Given the description of an element on the screen output the (x, y) to click on. 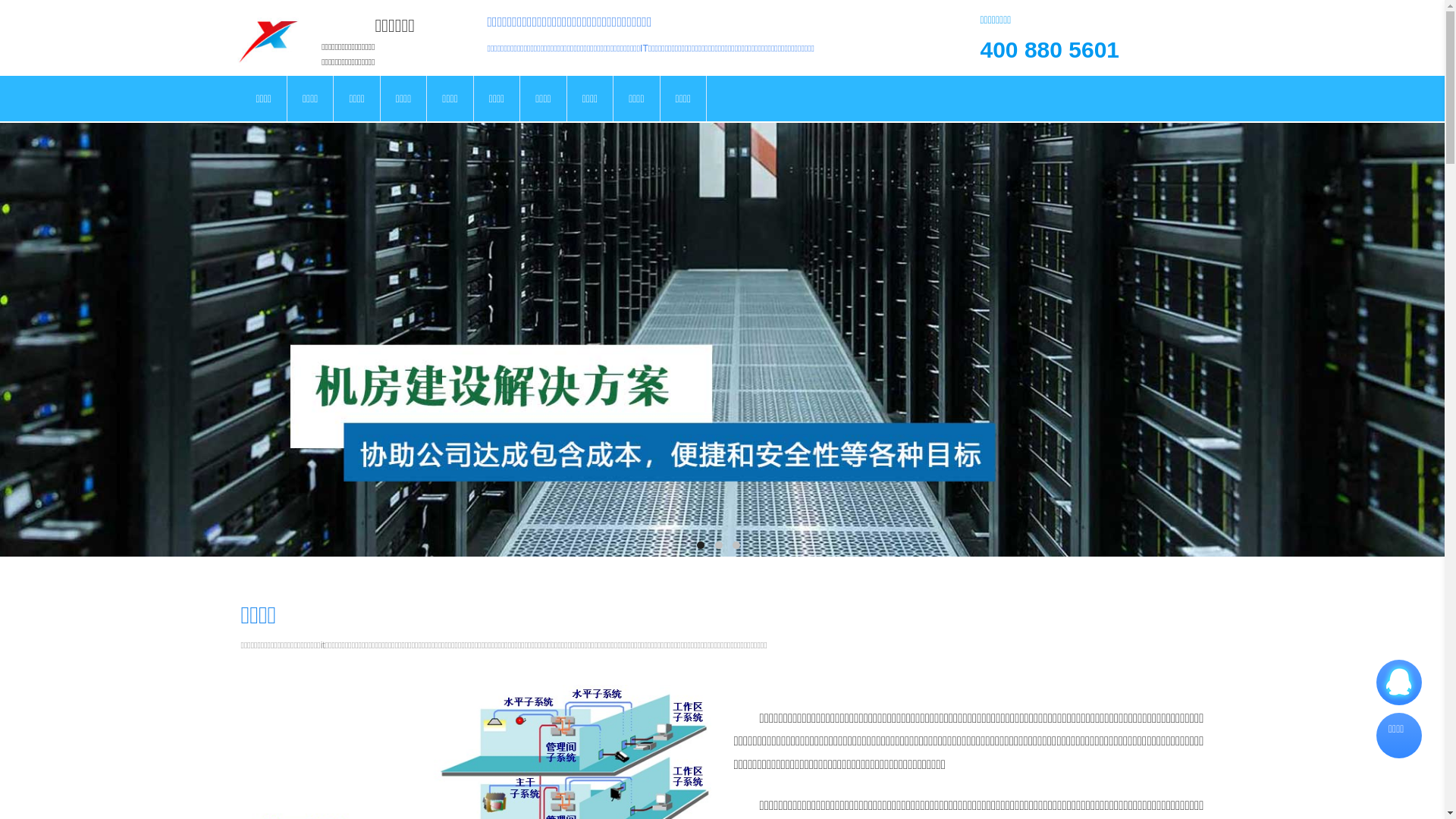
logo Element type: hover (267, 37)
